Given the description of an element on the screen output the (x, y) to click on. 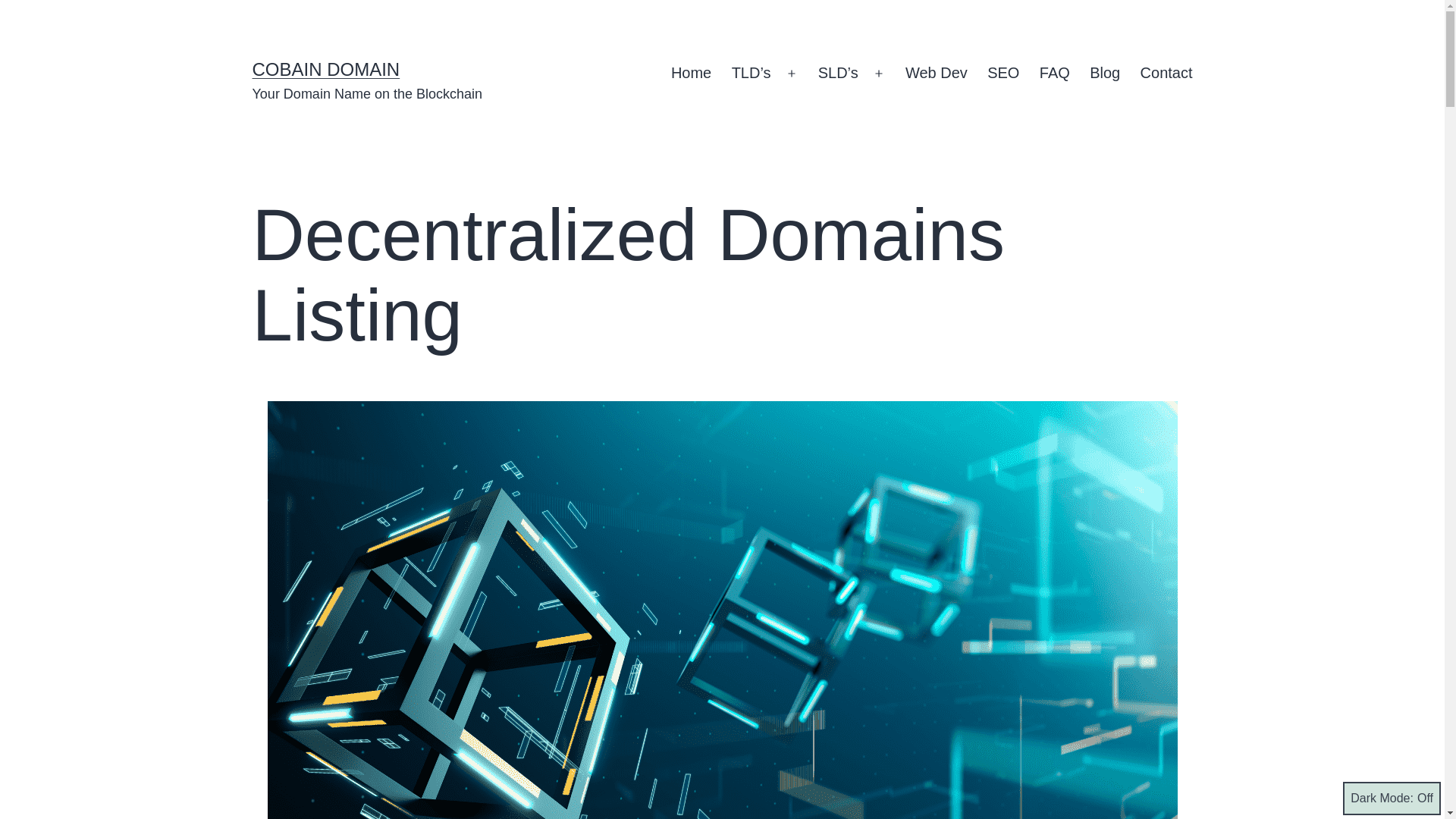
Contact (1165, 73)
Blog (1104, 73)
SEO (1002, 73)
COBAIN DOMAIN (324, 68)
Web Dev (935, 73)
FAQ (1054, 73)
Home (691, 73)
